Given the description of an element on the screen output the (x, y) to click on. 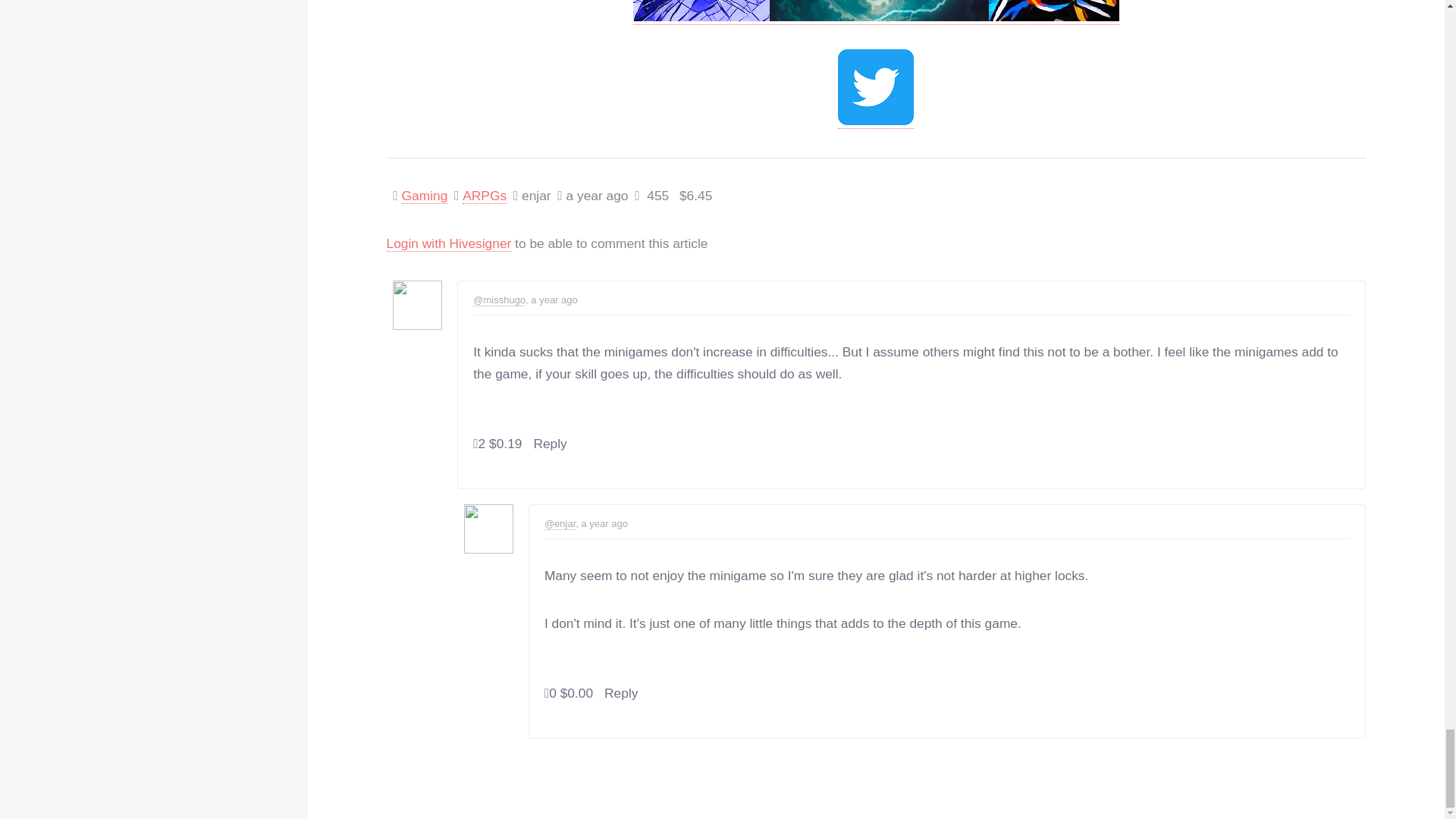
ARPGs (484, 195)
06 March 2023, 11:40:33 (601, 523)
06 March 2023, 10:35:06 (551, 299)
Login with Hivesigner (449, 243)
Gaming (424, 195)
March 6, 2023 1:10 AM (597, 195)
